Given the description of an element on the screen output the (x, y) to click on. 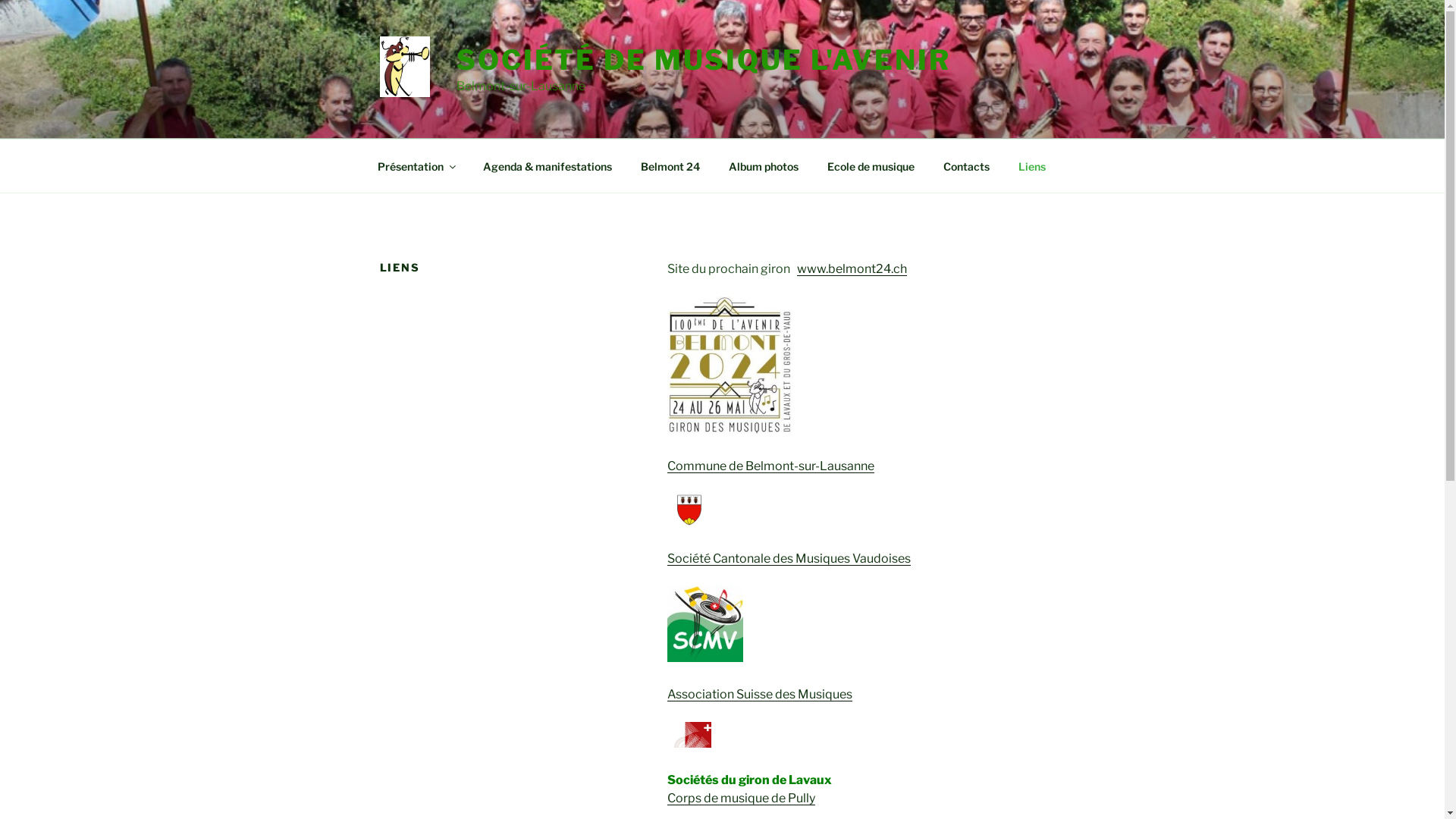
Ecole de musique Element type: text (871, 165)
Agenda & manifestations Element type: text (547, 165)
Commune de Belmont-sur-Lausanne Element type: text (770, 465)
Belmont 24 Element type: text (670, 165)
Association Suisse des Musiques Element type: text (759, 694)
www.belmont24.ch Element type: text (851, 268)
Liens Element type: text (1032, 165)
Corps de musique de Pully Element type: text (741, 797)
Contacts Element type: text (965, 165)
Album photos Element type: text (763, 165)
